Given the description of an element on the screen output the (x, y) to click on. 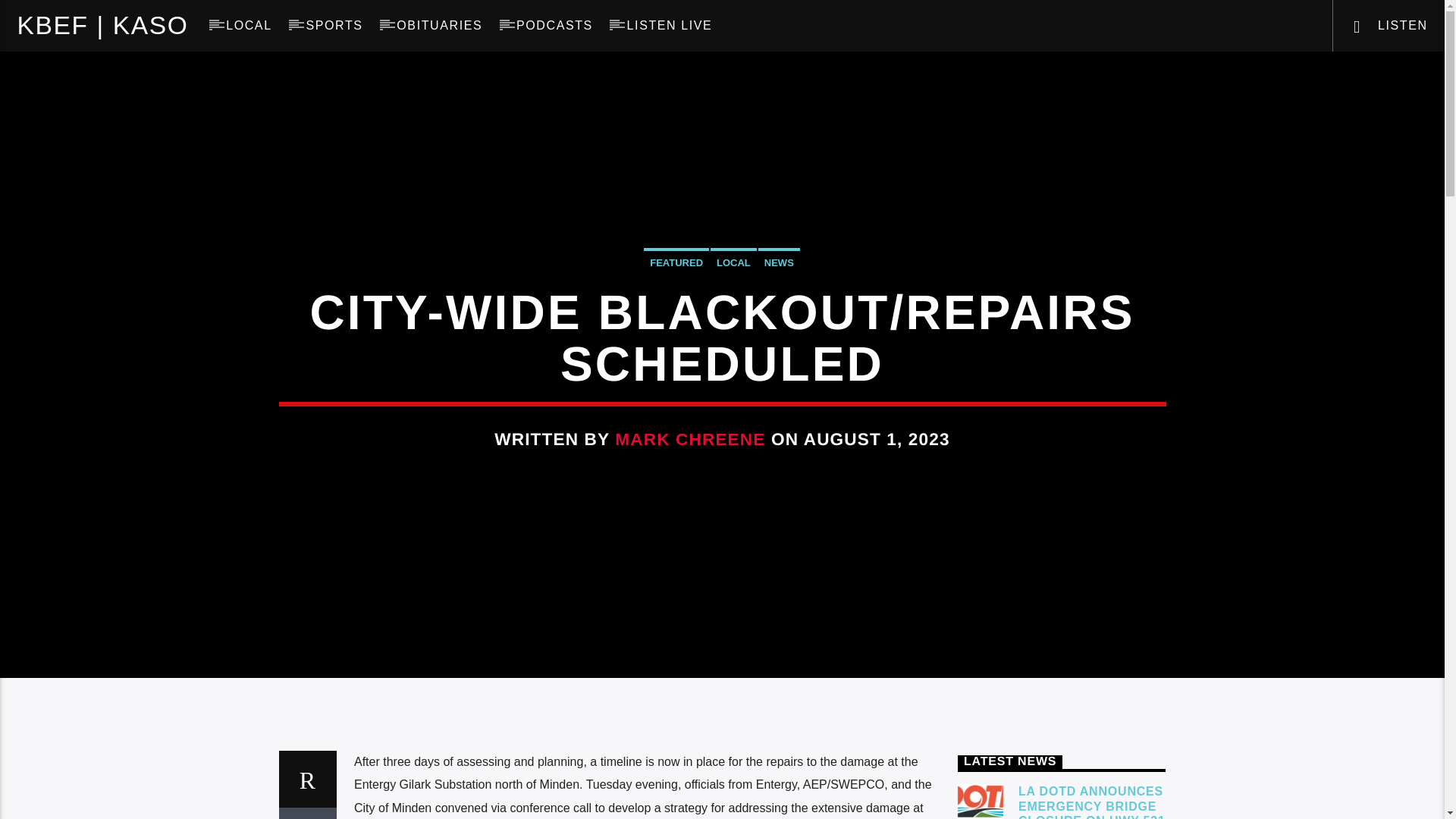
NEWS (778, 261)
OBITUARIES (439, 25)
LOCAL (733, 261)
SPORTS (334, 25)
LISTEN LIVE (669, 25)
Posts by Mark Chreene (689, 438)
PODCASTS (554, 25)
LOCAL (248, 25)
FEATURED (676, 261)
Search (1203, 75)
